Given the description of an element on the screen output the (x, y) to click on. 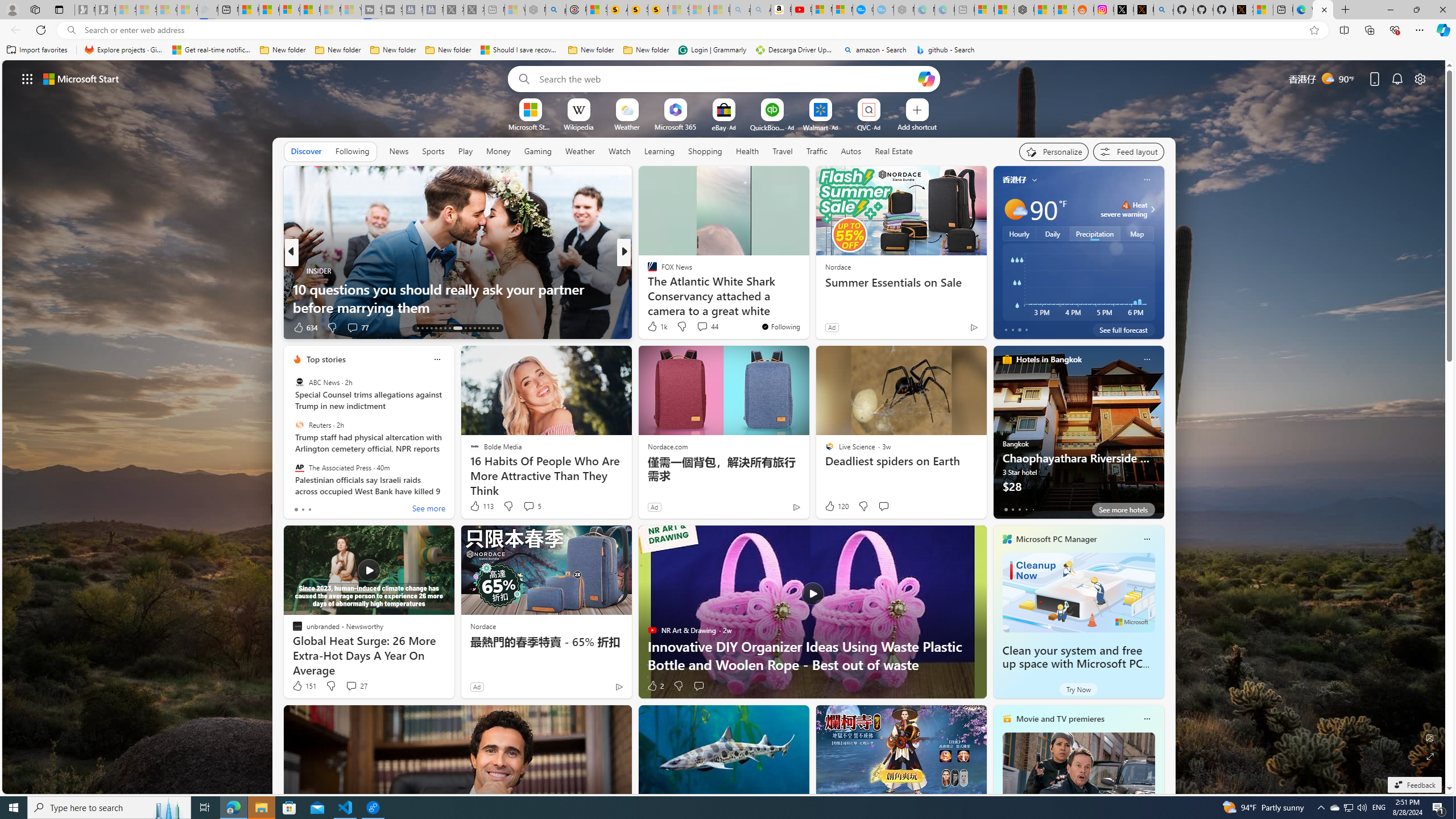
Extraordinary Gift Idea for Birthday & Christmas (807, 307)
128 Like (654, 327)
Daily (1052, 233)
CNBC (647, 270)
You're following The Weather Channel (949, 329)
2 Like (655, 685)
AutomationID: tab-29 (497, 328)
New folder (646, 49)
Welcome to Microsoft Edge (1302, 9)
poe - Search (555, 9)
The Associated Press (299, 466)
View comments 44 Comment (701, 326)
